Given the description of an element on the screen output the (x, y) to click on. 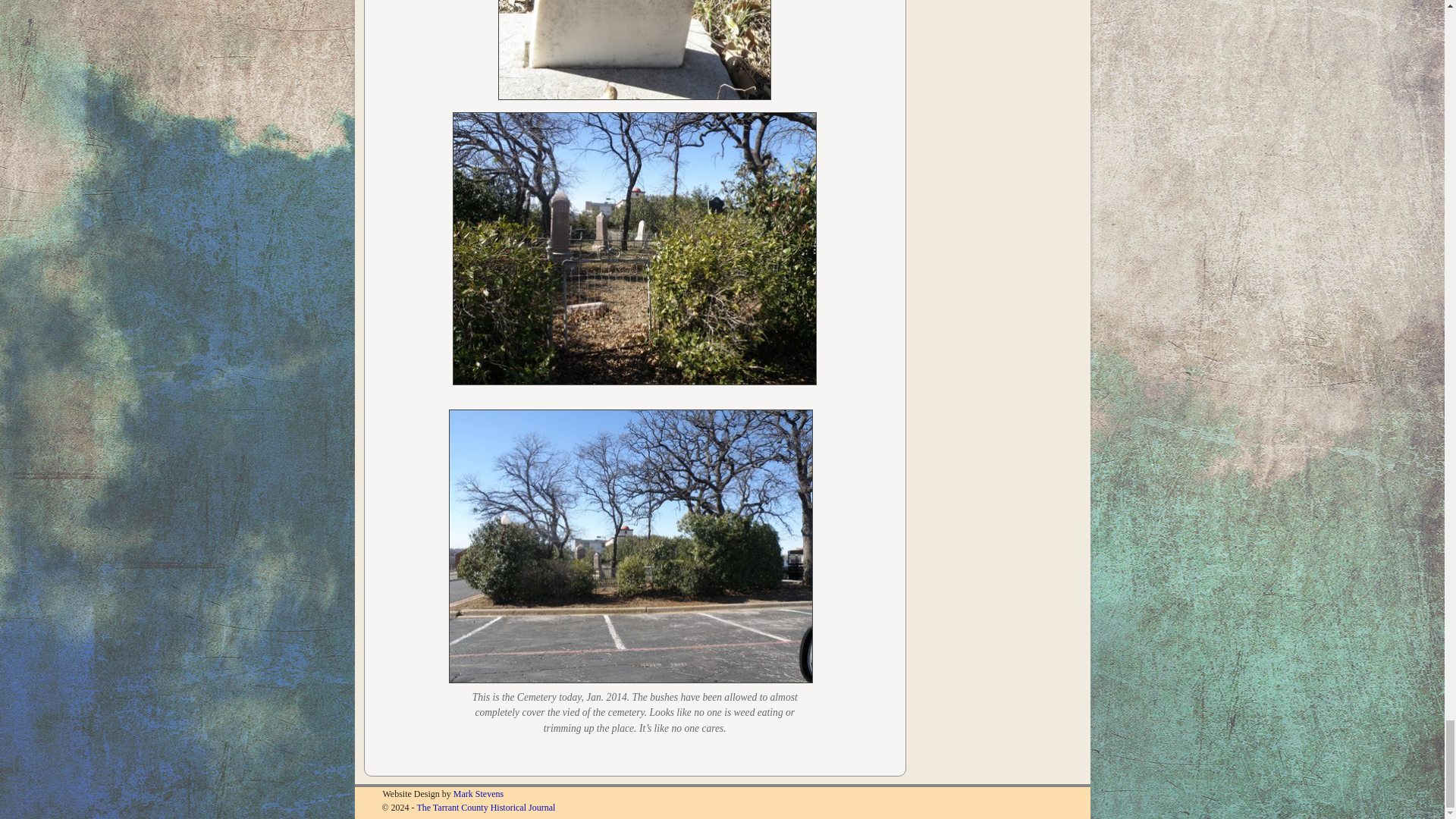
The Tarrant County Historical Journal (485, 807)
